Given the description of an element on the screen output the (x, y) to click on. 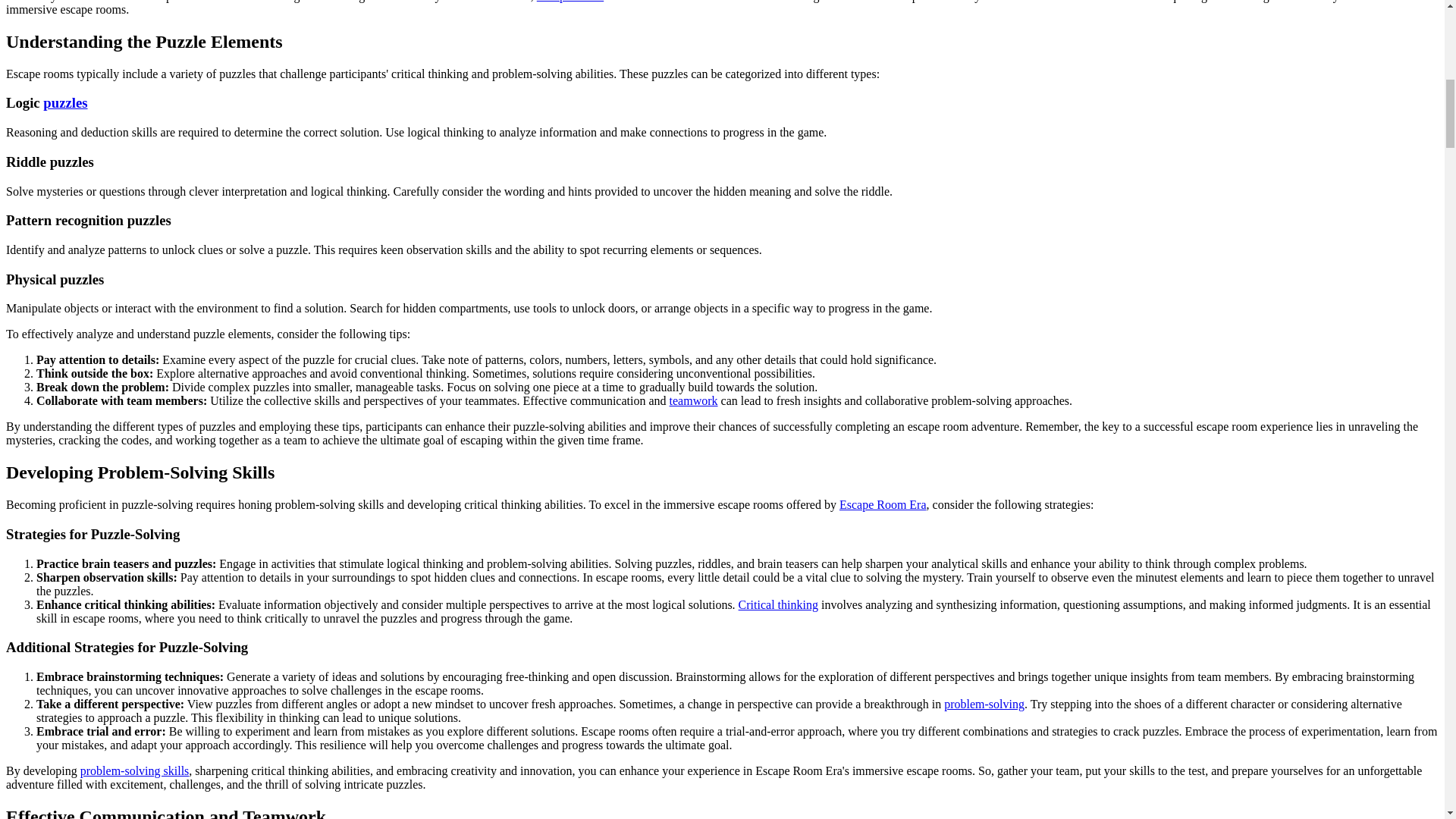
problem-solving skills (134, 770)
Escape Room Era (883, 504)
Escape Room (570, 1)
problem-solving (984, 703)
puzzles (65, 102)
teamwork (693, 400)
Critical thinking (778, 604)
